Given the description of an element on the screen output the (x, y) to click on. 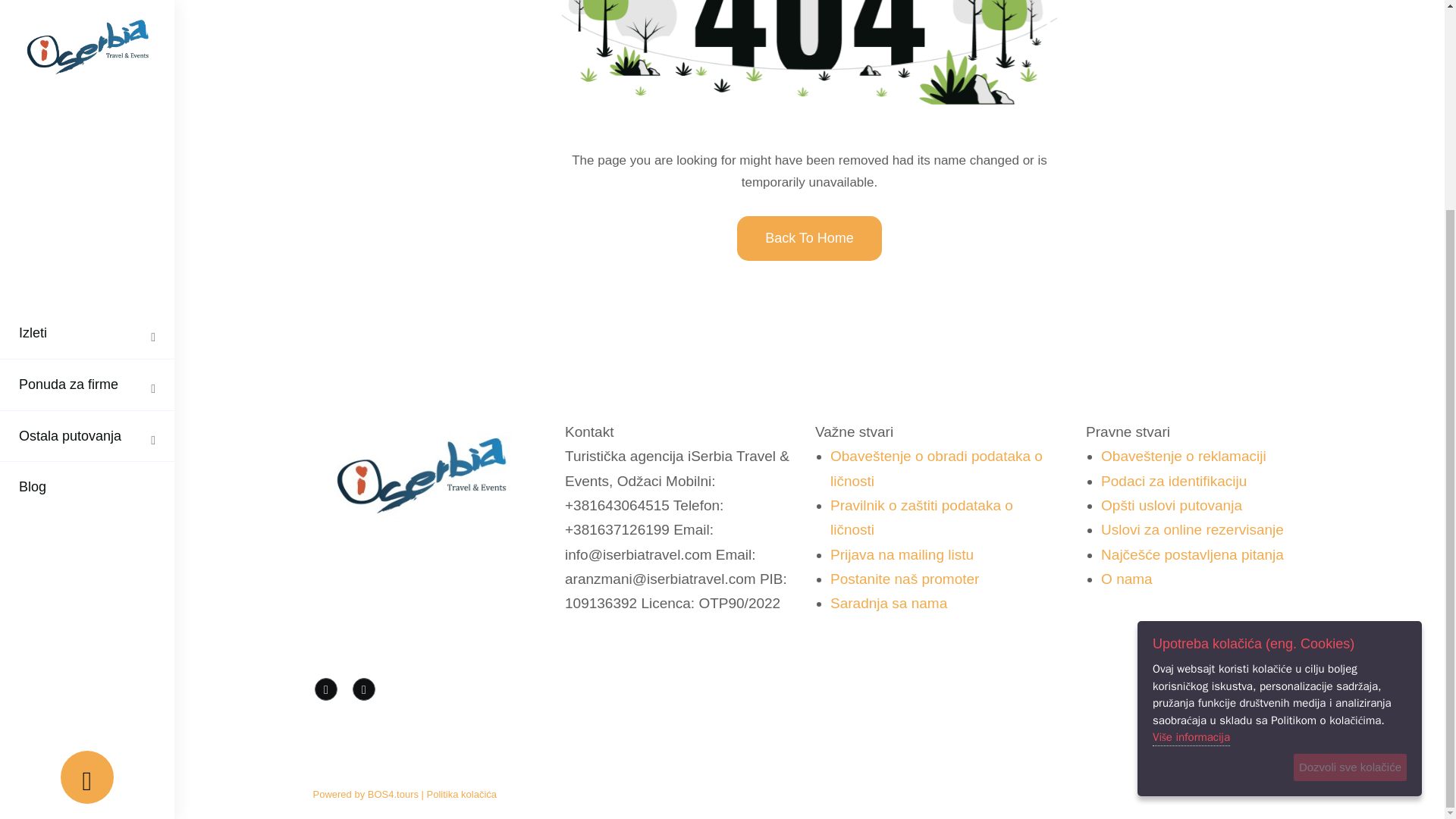
Uslovi za online rezervisanje (1192, 529)
Prijava na mailing listu (901, 554)
Ponuda za firme (68, 112)
O nama (1126, 578)
Ostala putovanja (70, 163)
Podaci za identifikaciju (1173, 480)
Izleti (33, 60)
Blog (32, 214)
Saradnja sa nama (888, 602)
Back To Home (809, 238)
